Given the description of an element on the screen output the (x, y) to click on. 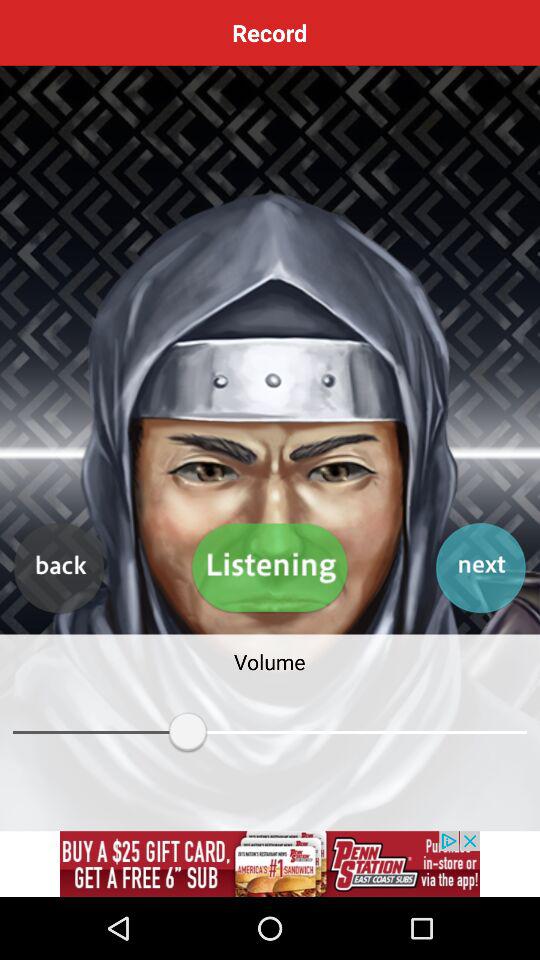
advertisement (270, 864)
